Given the description of an element on the screen output the (x, y) to click on. 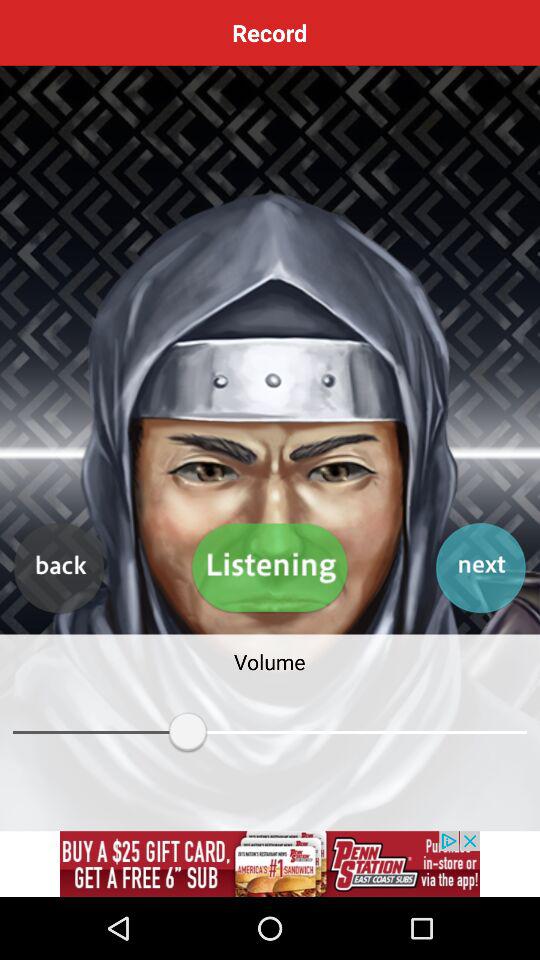
advertisement (270, 864)
